Given the description of an element on the screen output the (x, y) to click on. 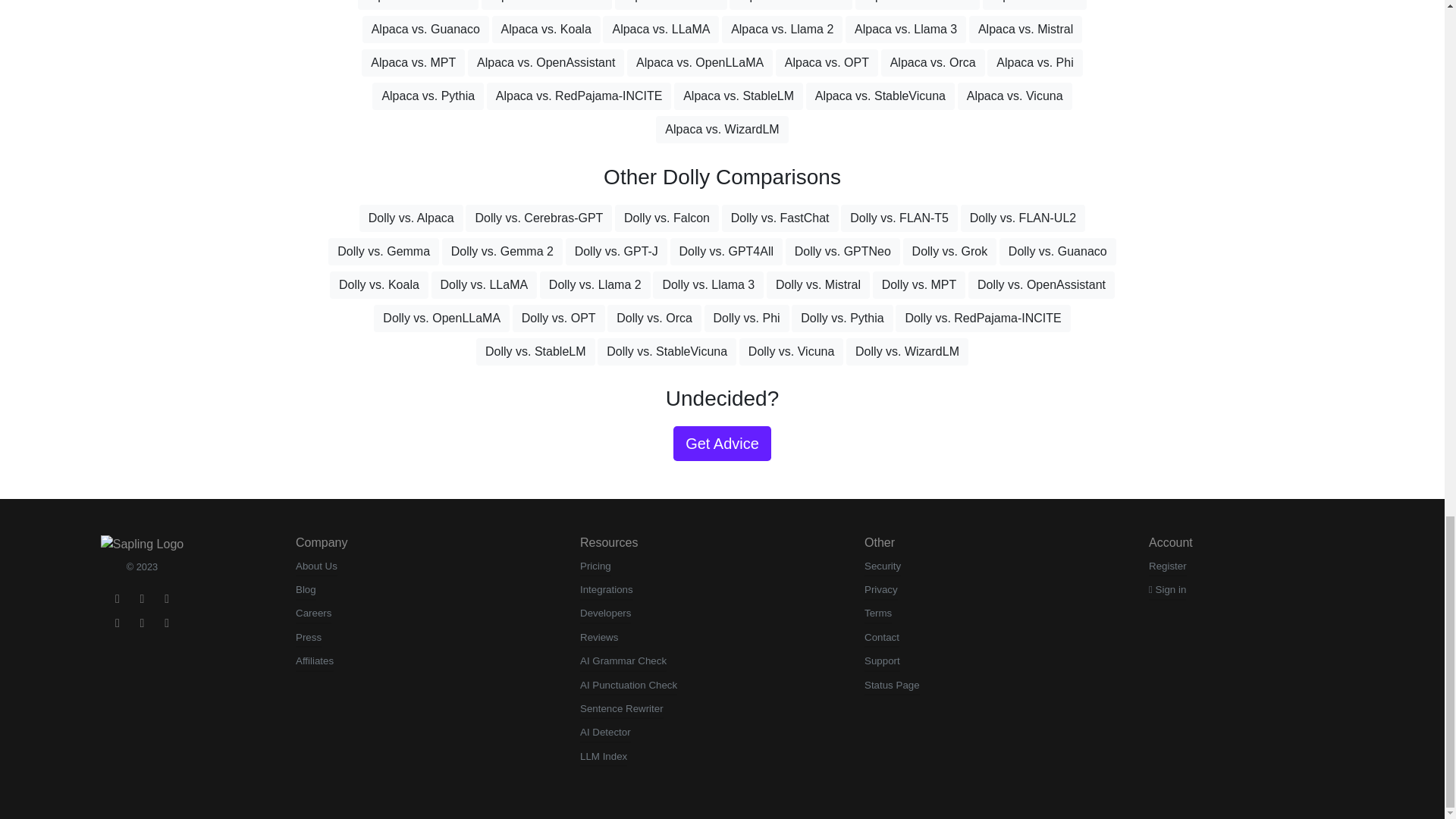
Alpaca vs. Llama 2 (782, 29)
Alpaca vs. GPT4All (790, 4)
Alpaca vs. Llama 3 (905, 29)
Alpaca vs. LLaMA (660, 29)
Alpaca vs. Koala (545, 29)
Alpaca vs. GPT-J (670, 4)
Alpaca vs. GPTNeo (917, 4)
Alpaca vs. Gemma 2 (546, 4)
Alpaca vs. Grok (1034, 4)
Alpaca vs. Guanaco (425, 29)
